Given the description of an element on the screen output the (x, y) to click on. 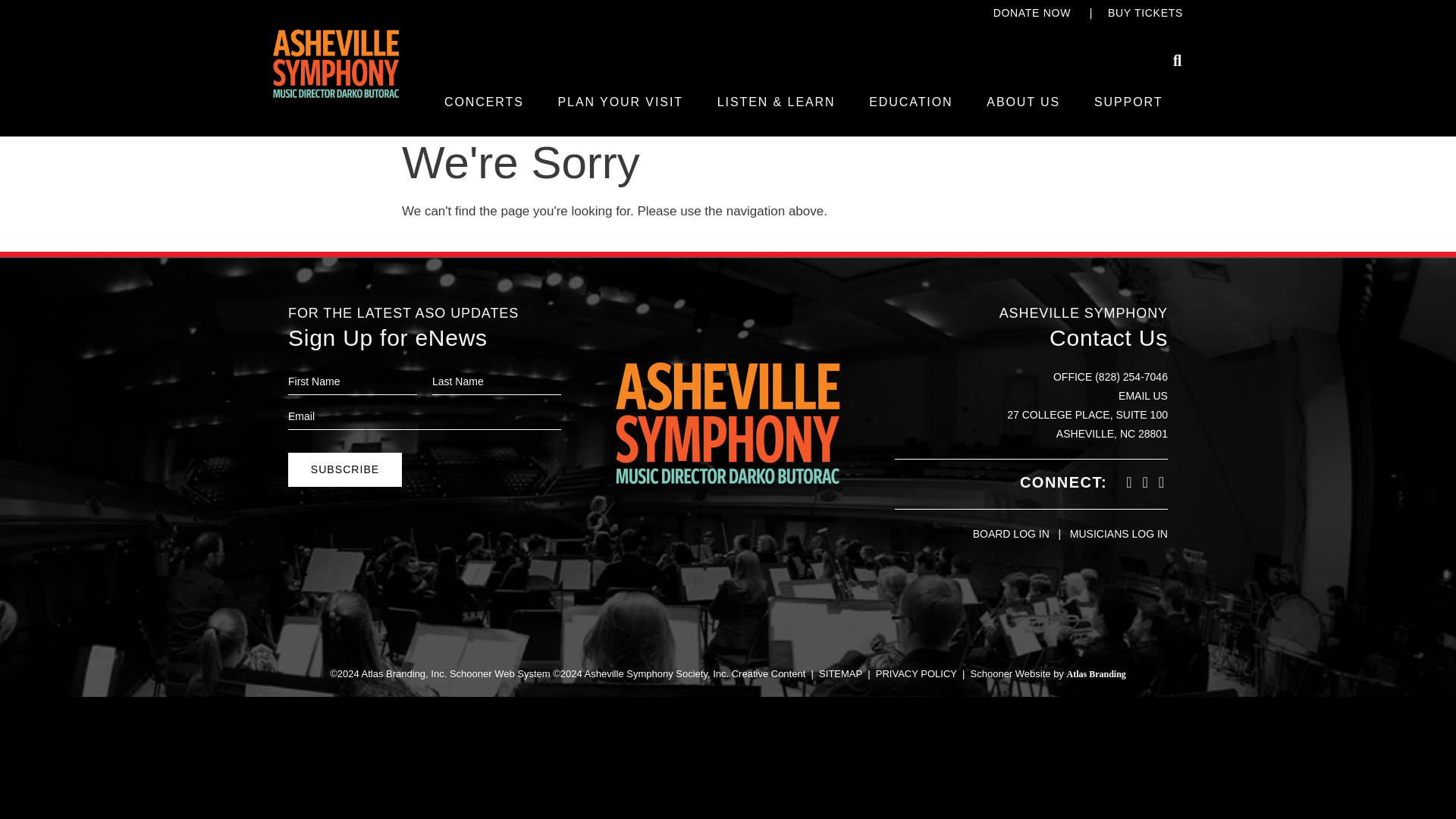
DONATE NOW (1031, 12)
Subscribe (344, 469)
BUY TICKETS (1145, 12)
PLAN YOUR VISIT (620, 101)
EDUCATION (910, 101)
ABOUT US (1023, 101)
CONCERTS (483, 101)
